Given the description of an element on the screen output the (x, y) to click on. 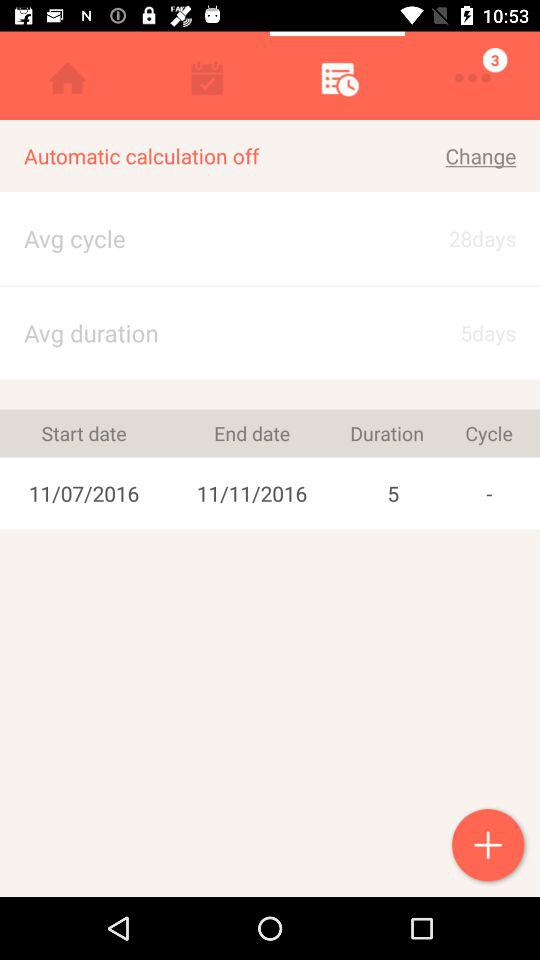
turn off app next to the 28days item (189, 332)
